Given the description of an element on the screen output the (x, y) to click on. 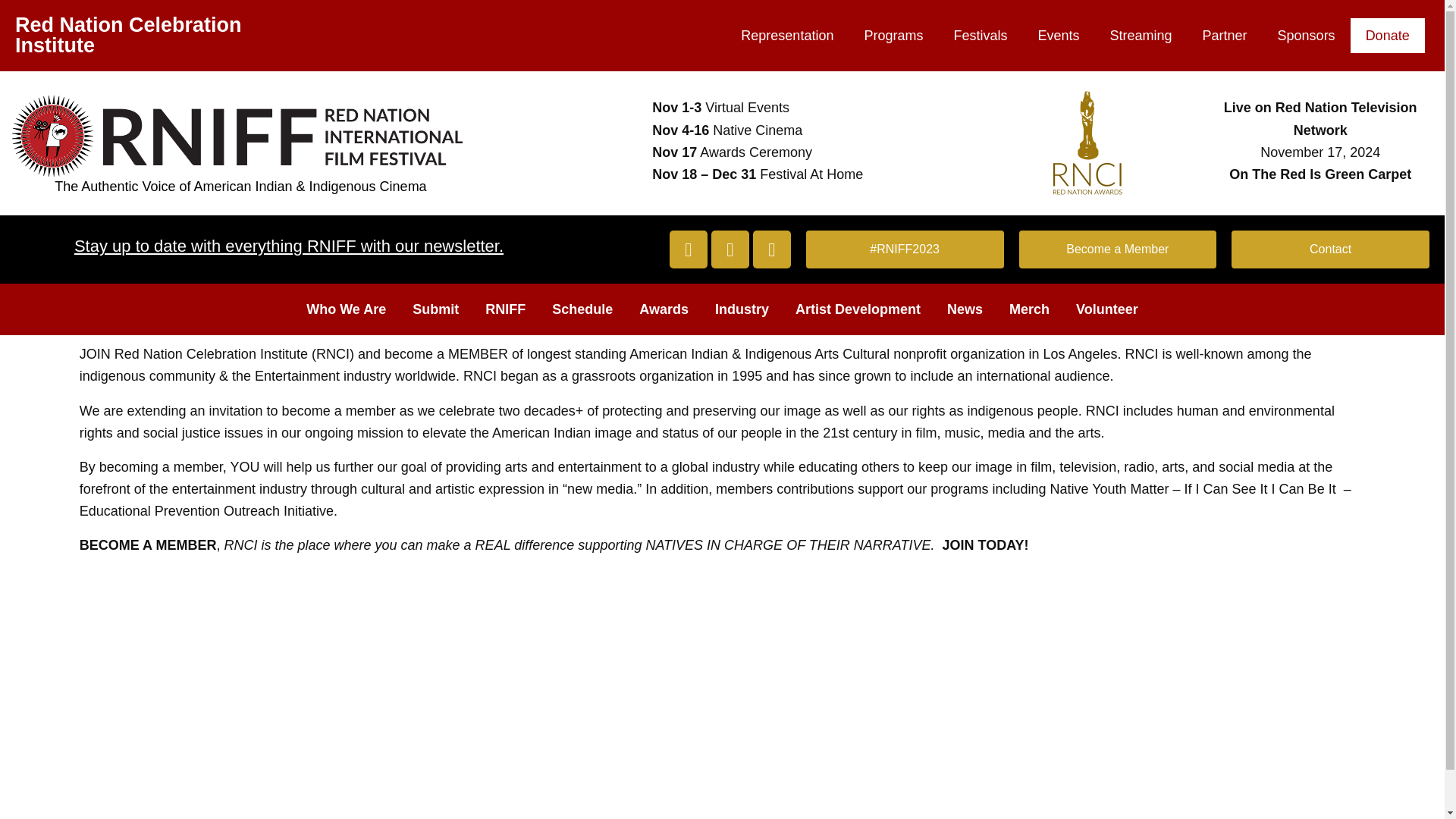
Who We Are (346, 309)
Stay up to date with everything RNIFF with our newsletter. (288, 245)
Representation (786, 35)
Programs (892, 35)
Red Nation Celebration Institute (127, 34)
Submit (435, 309)
Partner (1225, 35)
Donate (1388, 35)
Streaming (1141, 35)
RNIFF (505, 309)
